Given the description of an element on the screen output the (x, y) to click on. 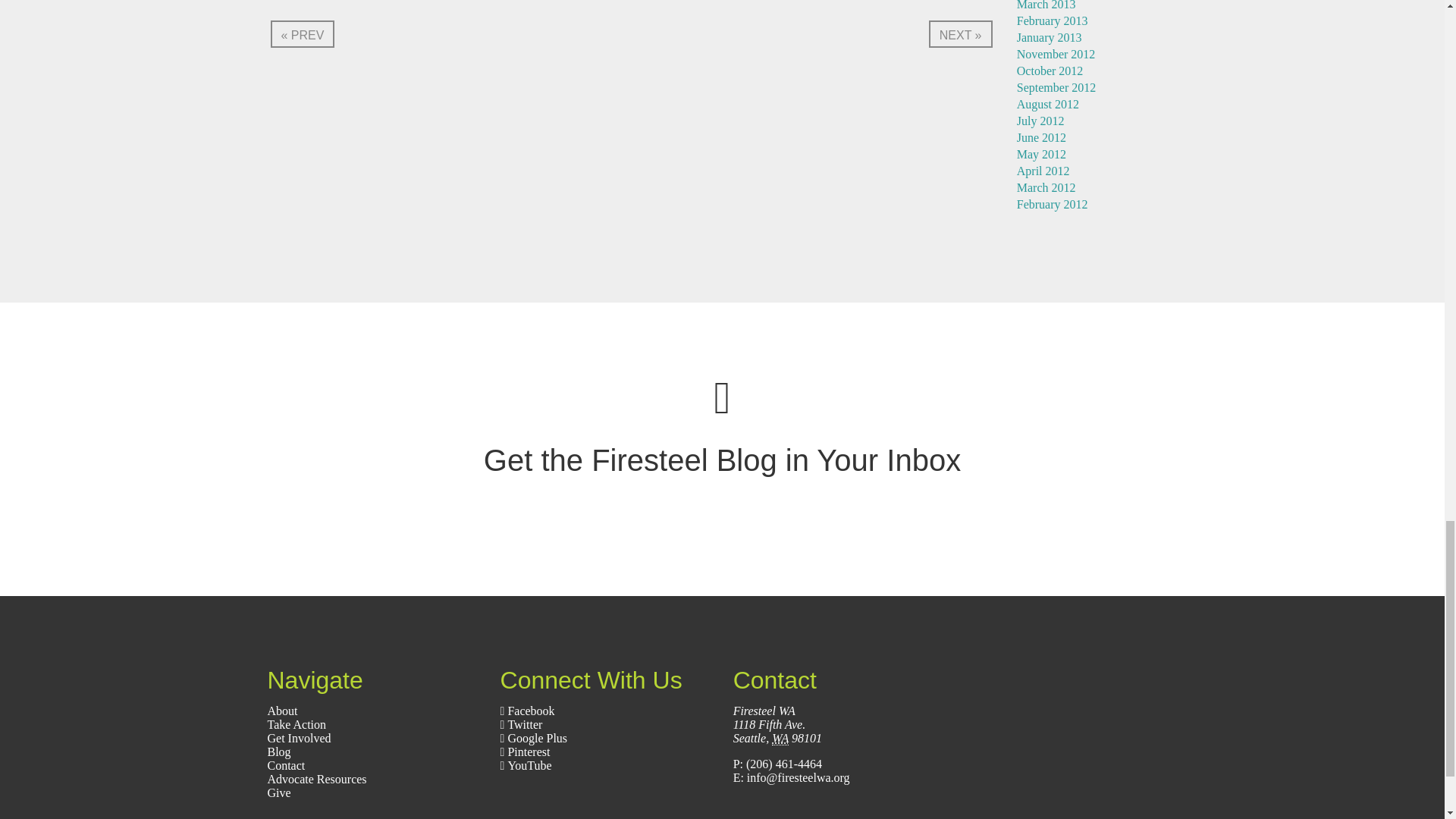
Washington (780, 738)
